Given the description of an element on the screen output the (x, y) to click on. 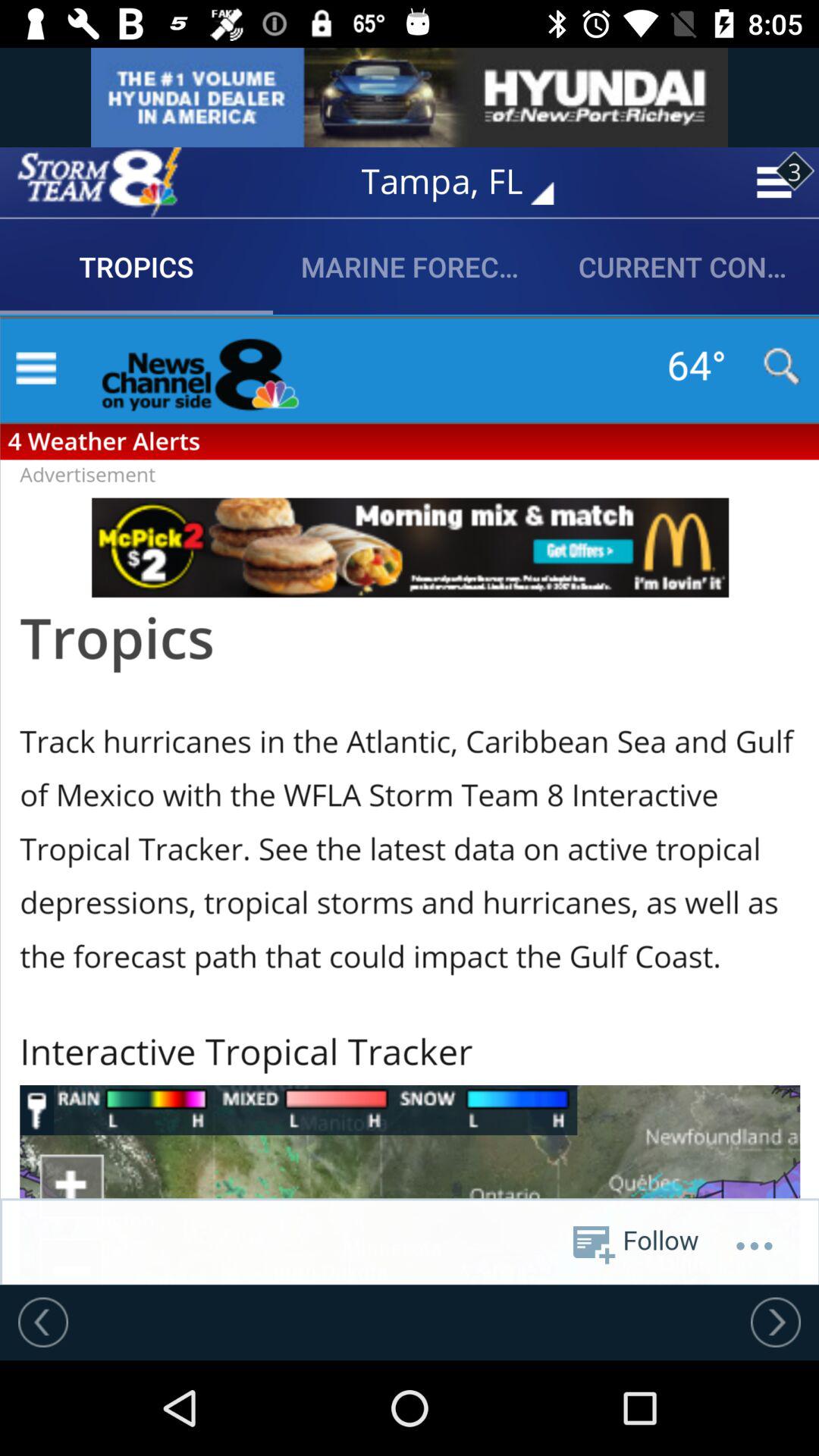
view advertisement (409, 97)
